Given the description of an element on the screen output the (x, y) to click on. 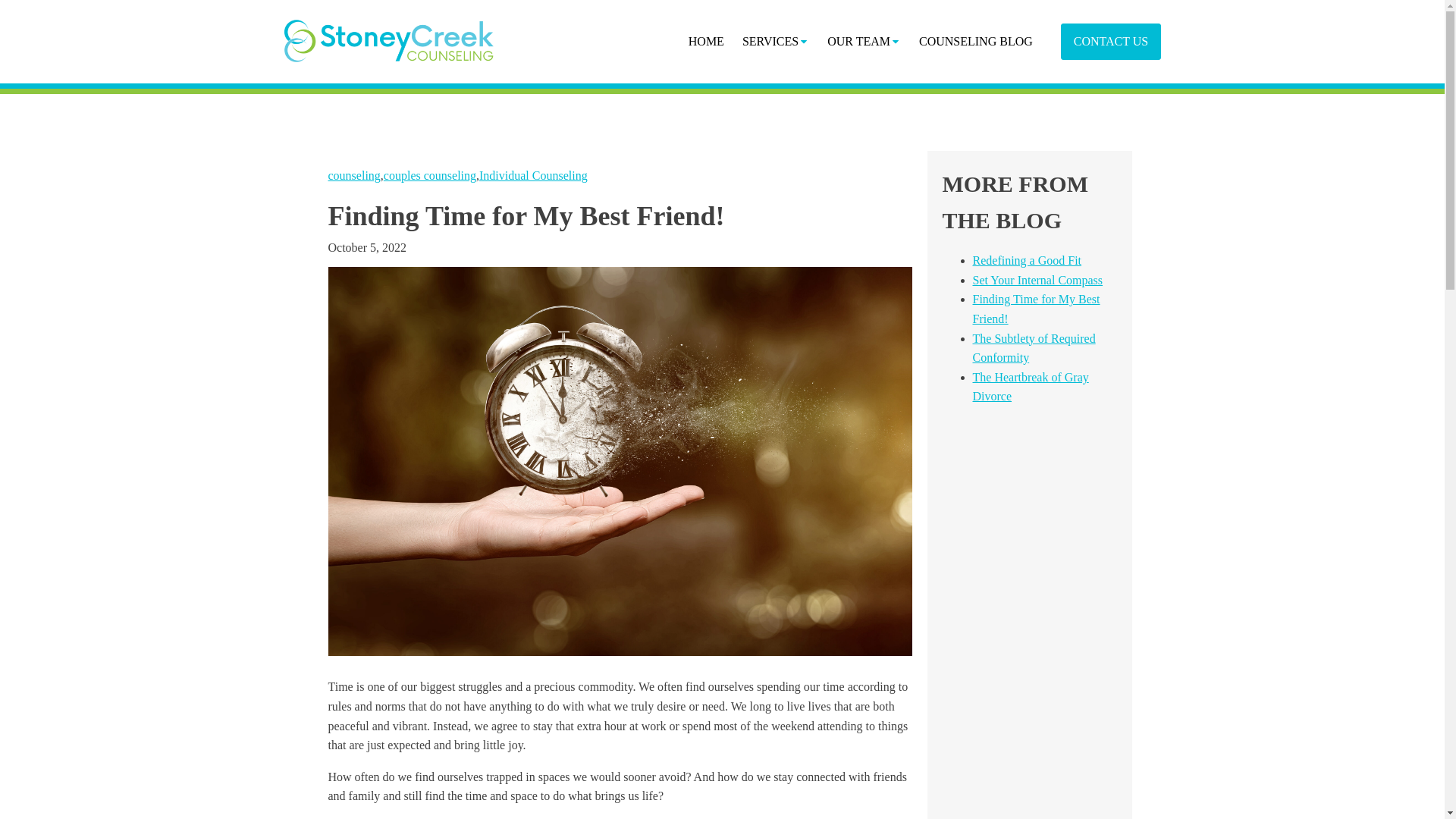
Set Your Internal Compass (1037, 279)
couples counseling (430, 174)
SERVICES (775, 41)
HOME (706, 41)
Finding Time for My Best Friend! (1035, 308)
CONTACT US (1110, 41)
counseling (353, 174)
COUNSELING BLOG (976, 41)
OUR TEAM (864, 41)
Redefining a Good Fit (1026, 259)
Individual Counseling (533, 174)
The Subtlety of Required Conformity (1033, 348)
The Heartbreak of Gray Divorce (1029, 387)
